Given the description of an element on the screen output the (x, y) to click on. 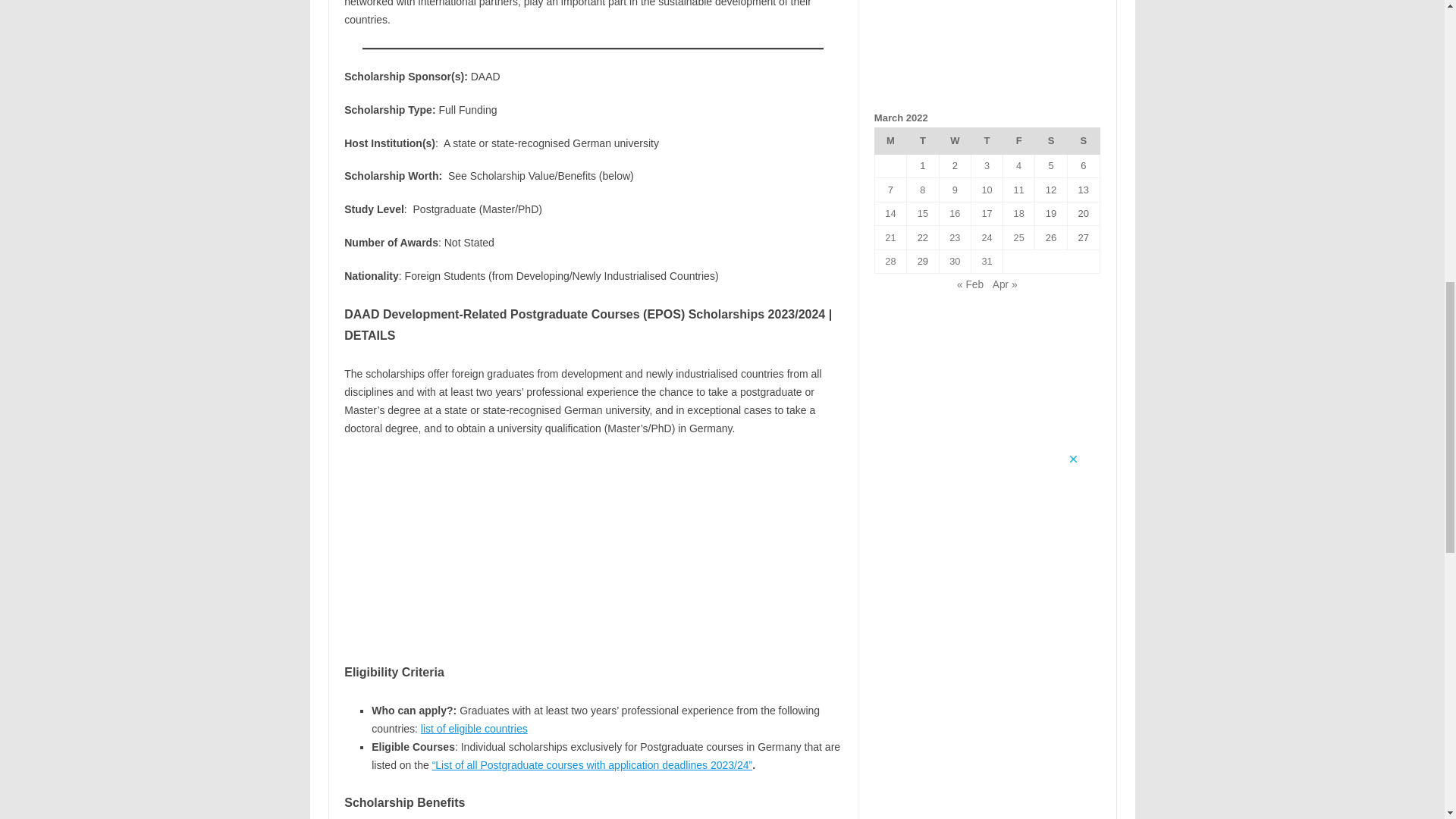
23 (954, 237)
17 (986, 213)
14 (890, 213)
11 (1019, 189)
24 (986, 237)
Tuesday (923, 140)
3rd party ad content (988, 47)
Friday (1019, 140)
28 (890, 260)
30 (954, 260)
31 (986, 260)
15 (922, 213)
16 (954, 213)
Sunday (1083, 140)
